Given the description of an element on the screen output the (x, y) to click on. 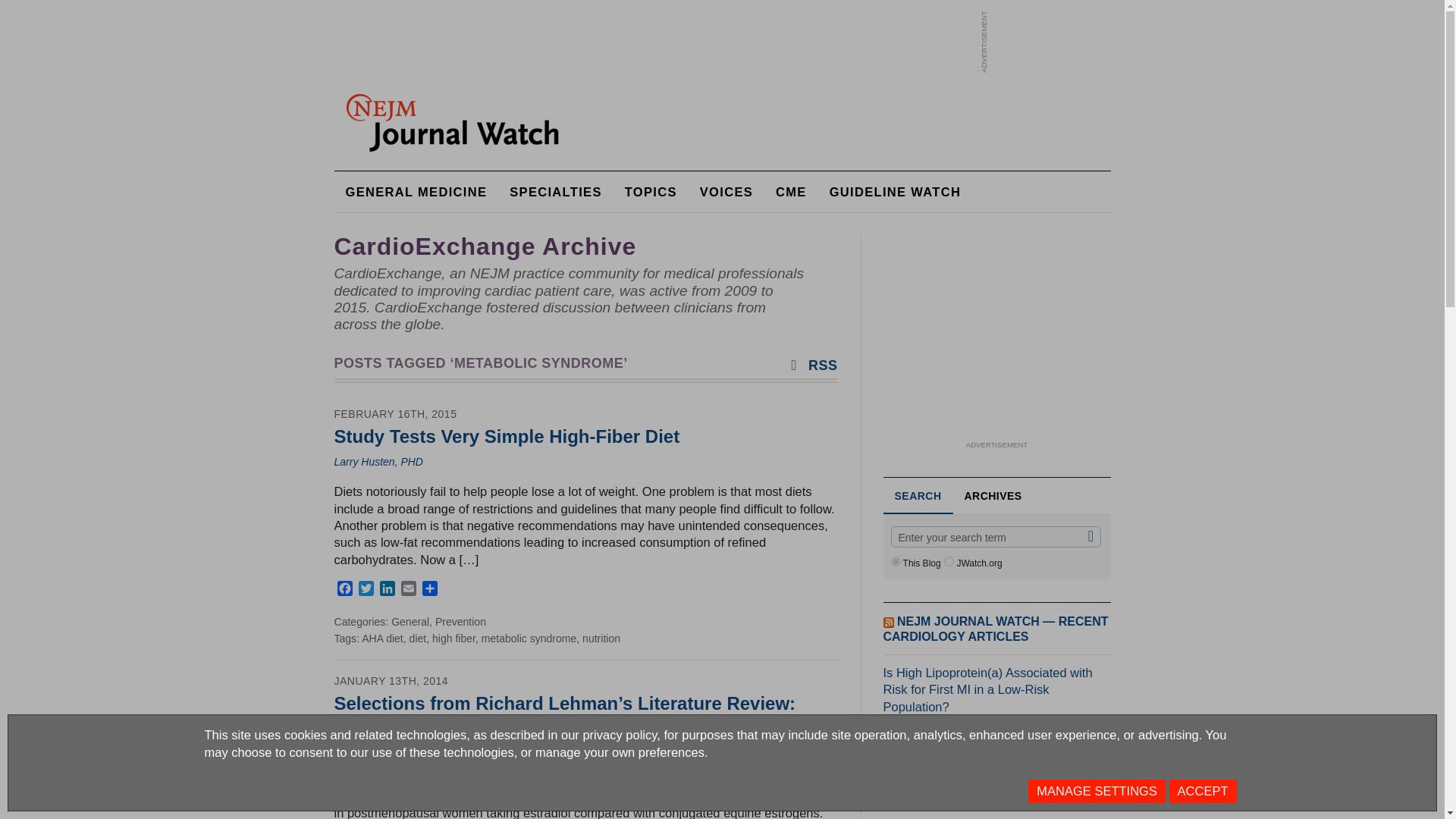
Posts by Larry Husten, PHD (377, 461)
Larry Husten, PHD (377, 461)
Posts by Richard Lehman, BM, BCh, MRCGP (419, 749)
FACEBOOK (344, 590)
Twitter (365, 590)
CardioExchange Archive (484, 246)
Enter your search term (994, 536)
Facebook (344, 590)
CardioExchange Archive: Permalink (484, 246)
GENERAL MEDICINE (415, 191)
3rd party ad content (699, 41)
Email (408, 590)
JWatch.org (948, 561)
SPECIALTIES (554, 191)
